Given the description of an element on the screen output the (x, y) to click on. 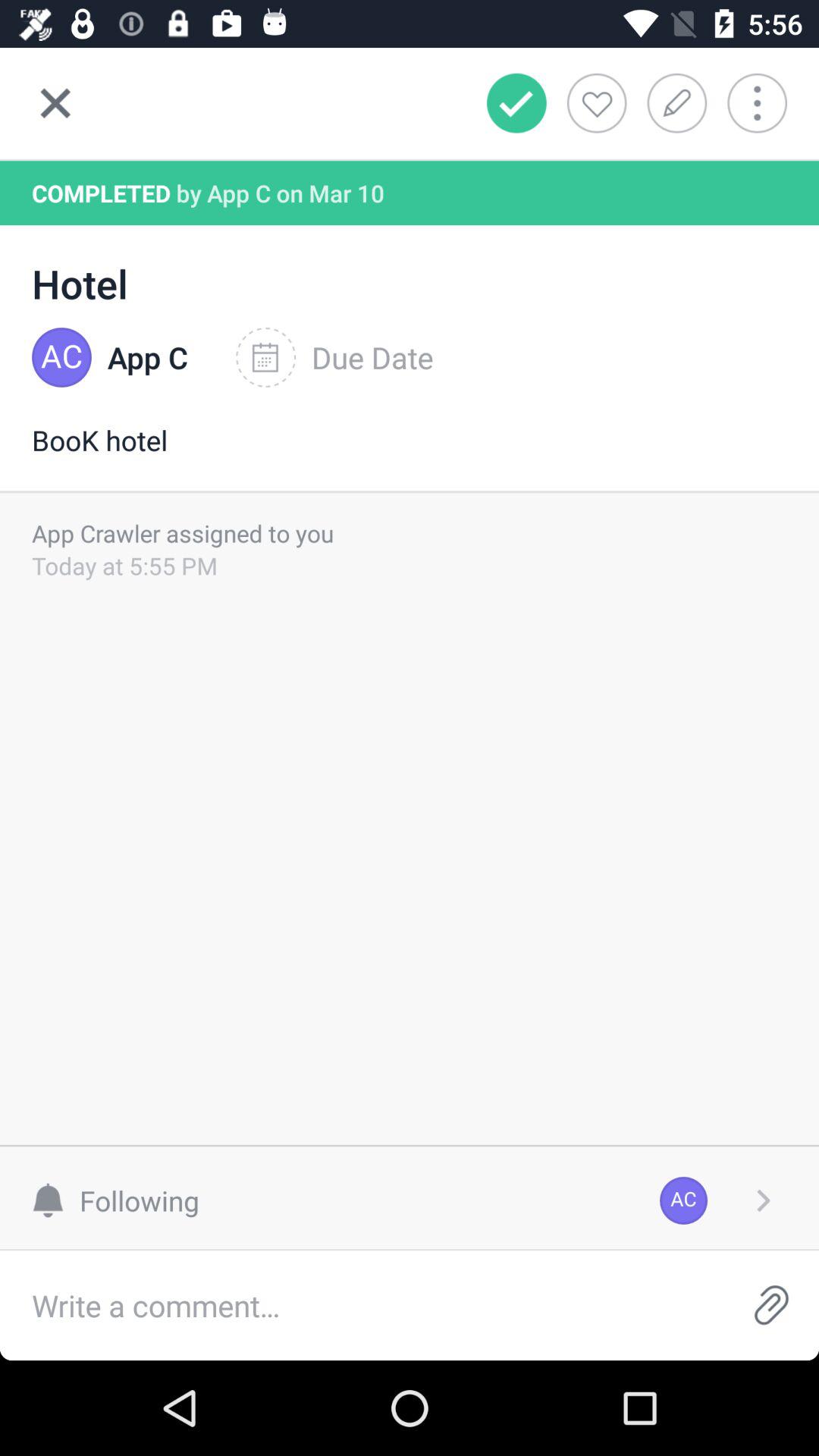
click on the icon next to the 3 vertical dots icon at the top right corner of the page (682, 102)
click on the favourites icon (596, 102)
click on the comment space below following (361, 1304)
